Given the description of an element on the screen output the (x, y) to click on. 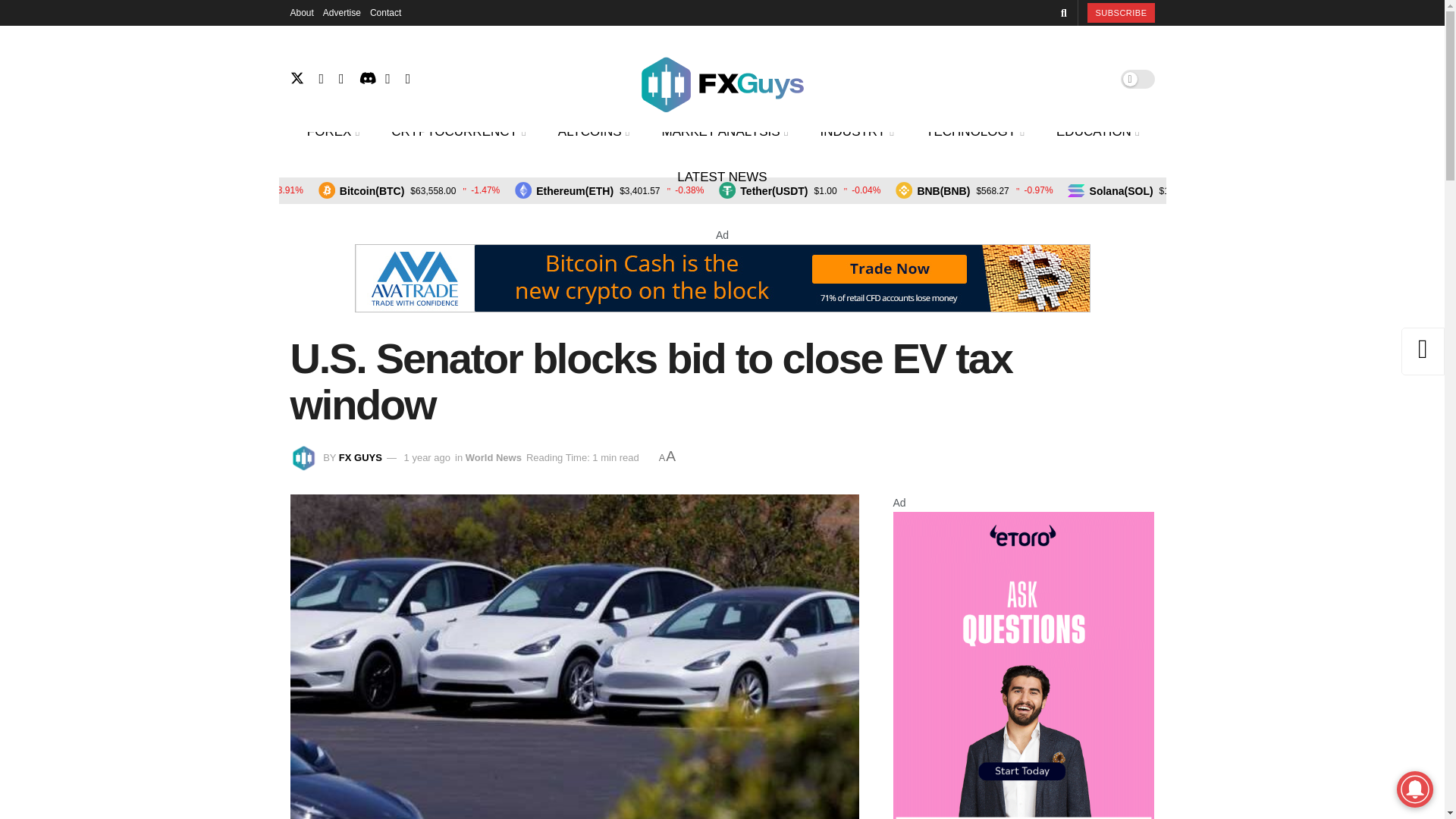
Advertise (342, 12)
CRYPTOCURRENCY (457, 131)
About (301, 12)
ALTCOINS (592, 131)
Contact (385, 12)
FOREX (331, 131)
SUBSCRIBE (1120, 12)
MARKET ANALYSIS (724, 131)
